Given the description of an element on the screen output the (x, y) to click on. 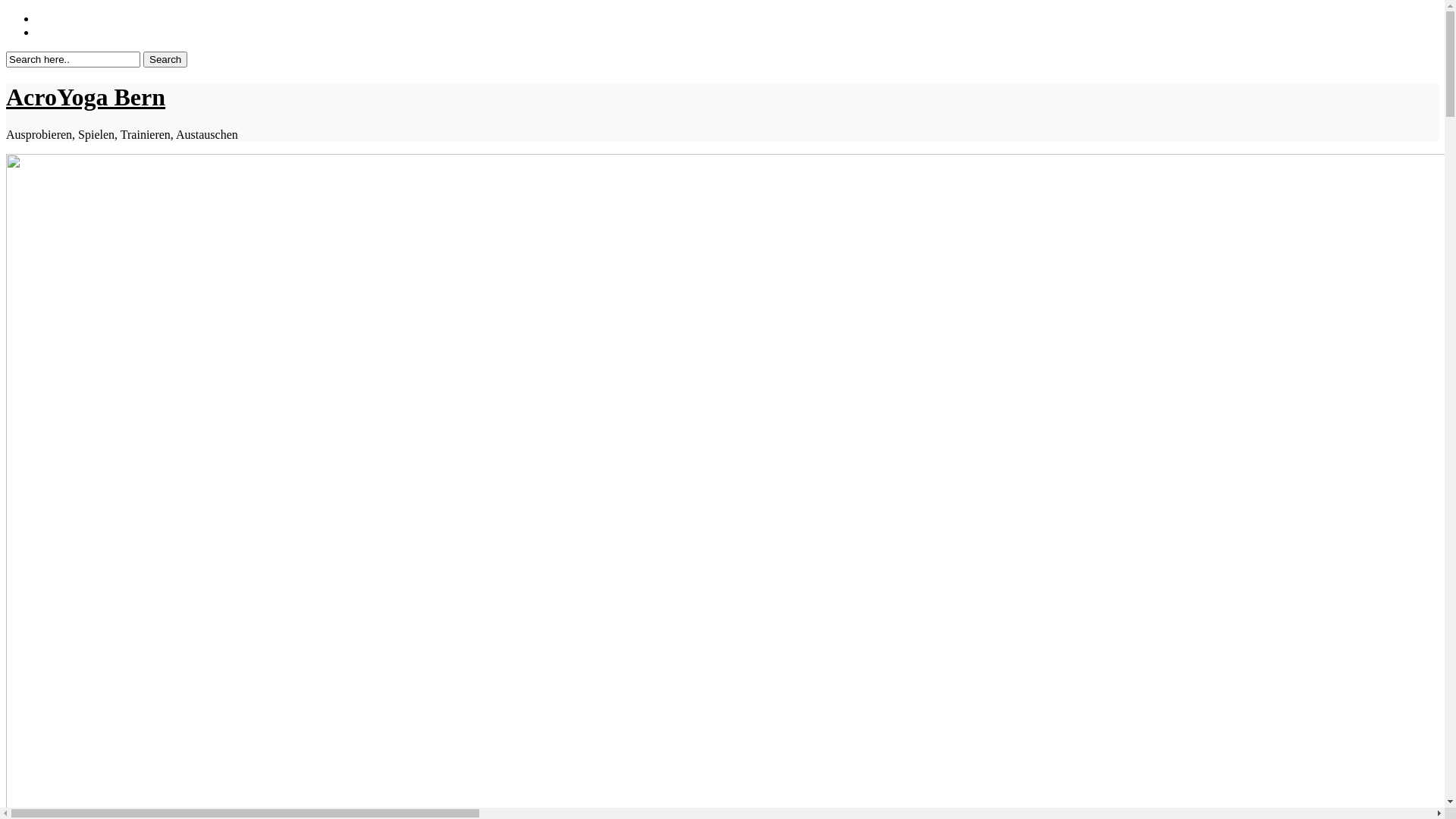
Search Element type: text (165, 59)
Skip to content Element type: text (5, 11)
AcroYoga Bern Element type: text (85, 96)
